Given the description of an element on the screen output the (x, y) to click on. 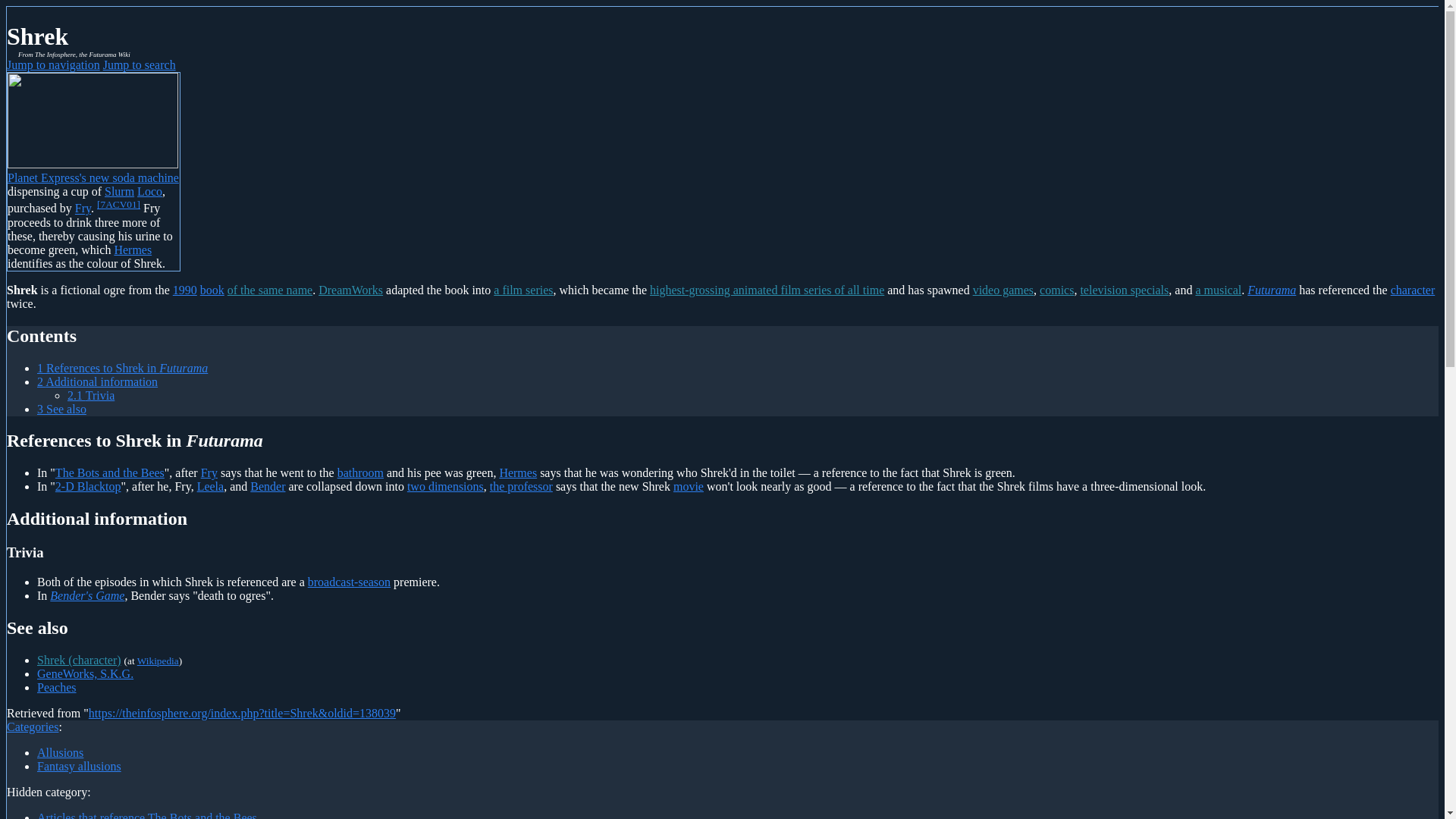
2-D Blacktop (87, 486)
1990s (184, 289)
comics (1056, 289)
Leela (210, 486)
2 Additional information (97, 381)
Fry (82, 208)
of the same name (270, 289)
Category:Publications (212, 289)
book (212, 289)
1 References to Shrek in Futurama (122, 367)
